Given the description of an element on the screen output the (x, y) to click on. 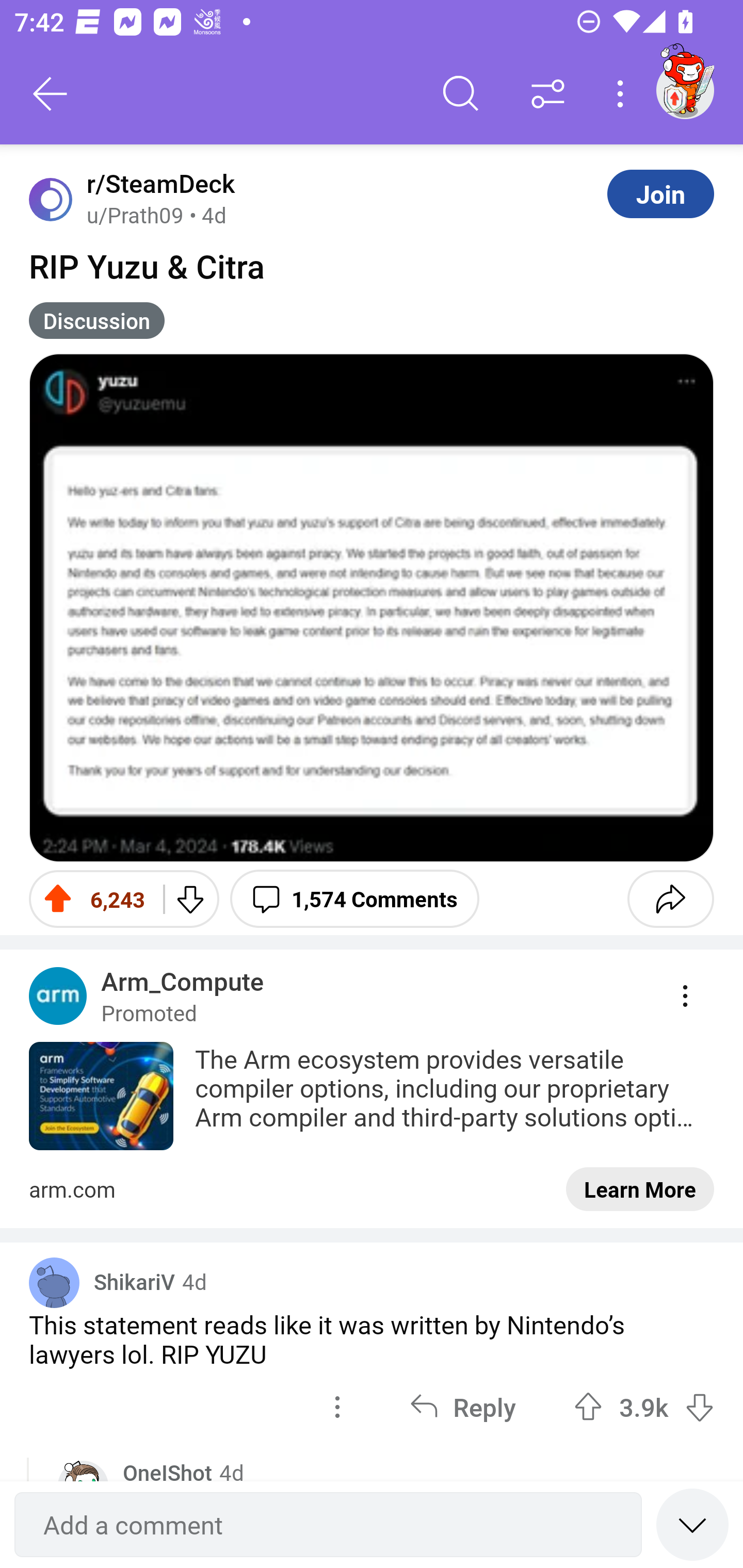
Back (50, 93)
TestAppium002 account (685, 90)
Search comments (460, 93)
Sort comments (547, 93)
More options (623, 93)
r/SteamDeck (157, 183)
Join (660, 193)
Avatar (50, 199)
Discussion (96, 320)
Image (371, 607)
Upvote 6,243 Downvote 1,574 Comments Share (371, 898)
Downvote (189, 898)
1,574 Comments (354, 898)
Share (670, 898)
Avatar (53, 1282)
options (337, 1406)
Reply (462, 1406)
Upvote 3.9k 3906 votes Downvote (643, 1406)
Speed read (692, 1524)
Add a comment (327, 1524)
